Given the description of an element on the screen output the (x, y) to click on. 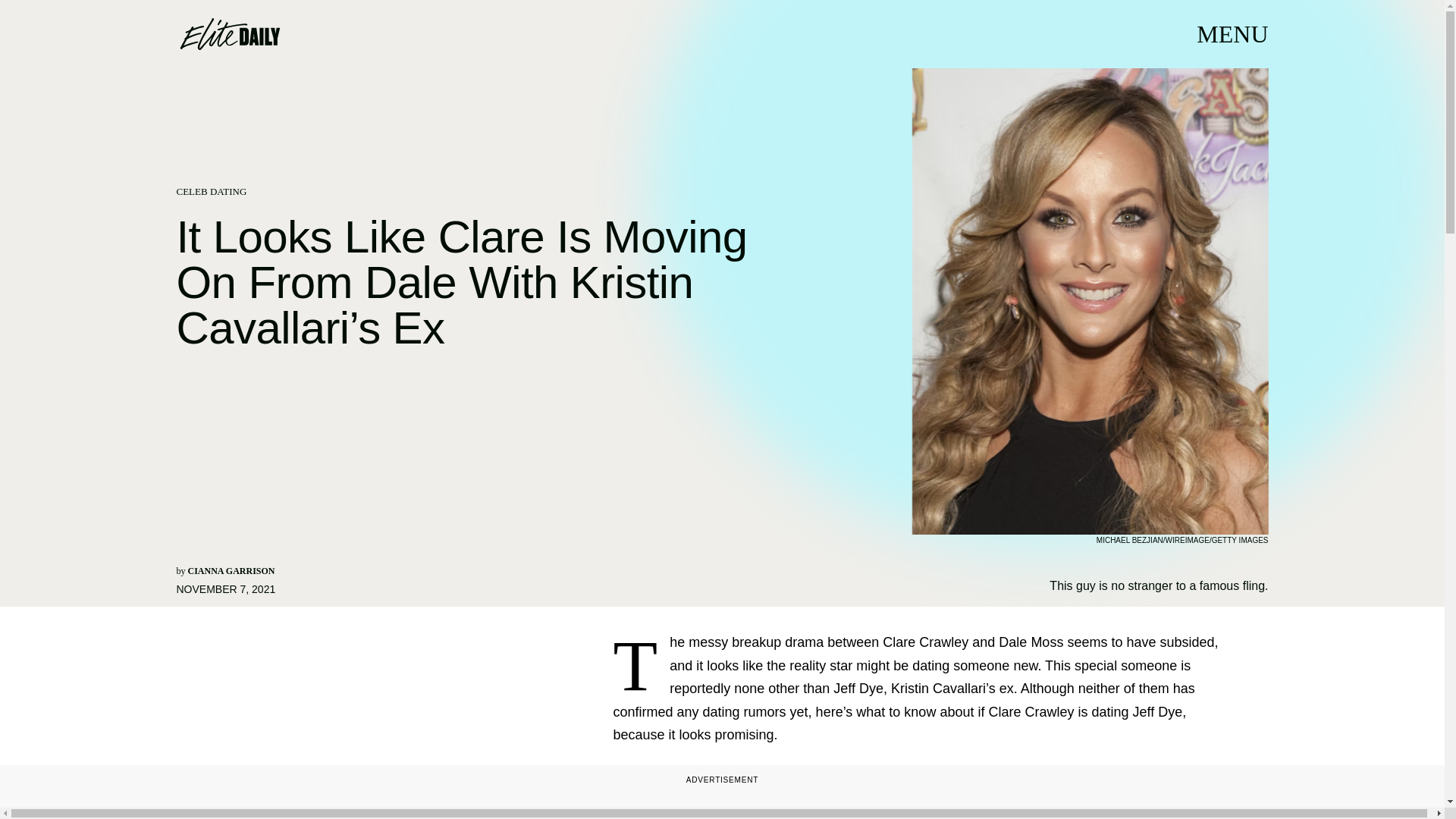
Elite Daily (229, 33)
CIANNA GARRISON (231, 570)
